Given the description of an element on the screen output the (x, y) to click on. 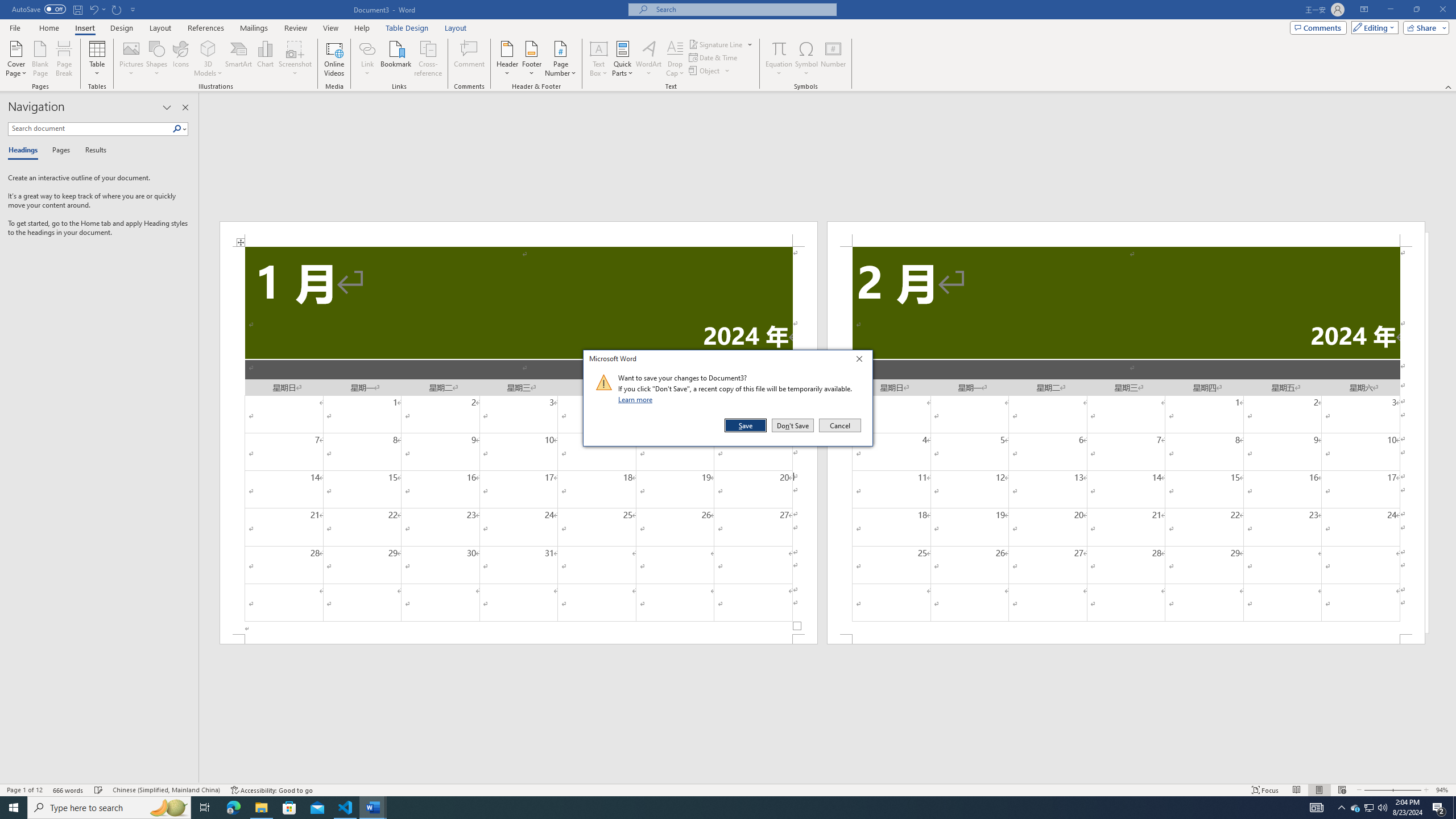
Learn more (636, 399)
Header (507, 58)
Pictures (131, 58)
Signature Line (721, 44)
Page Number (560, 58)
Don't Save (792, 425)
Number... (833, 58)
